Given the description of an element on the screen output the (x, y) to click on. 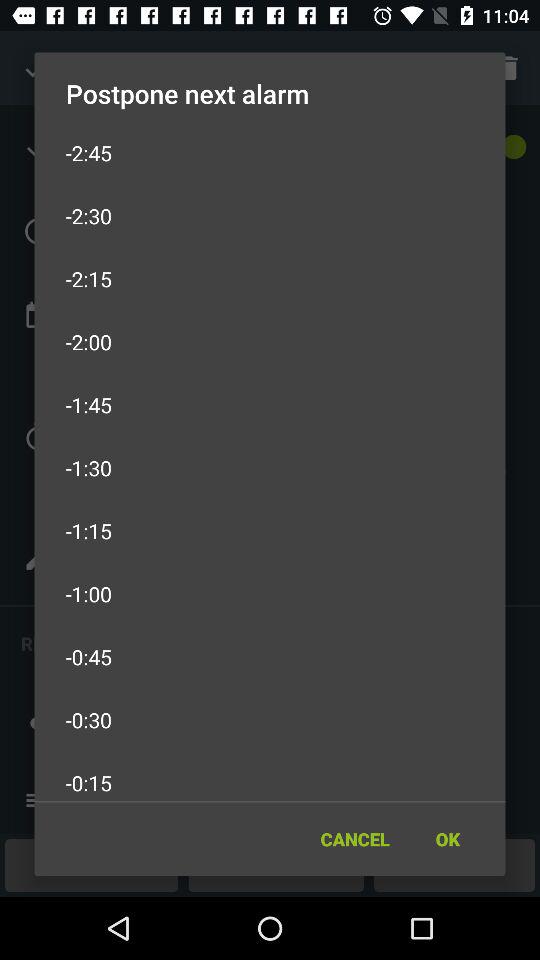
open the item next to the ok item (354, 838)
